Given the description of an element on the screen output the (x, y) to click on. 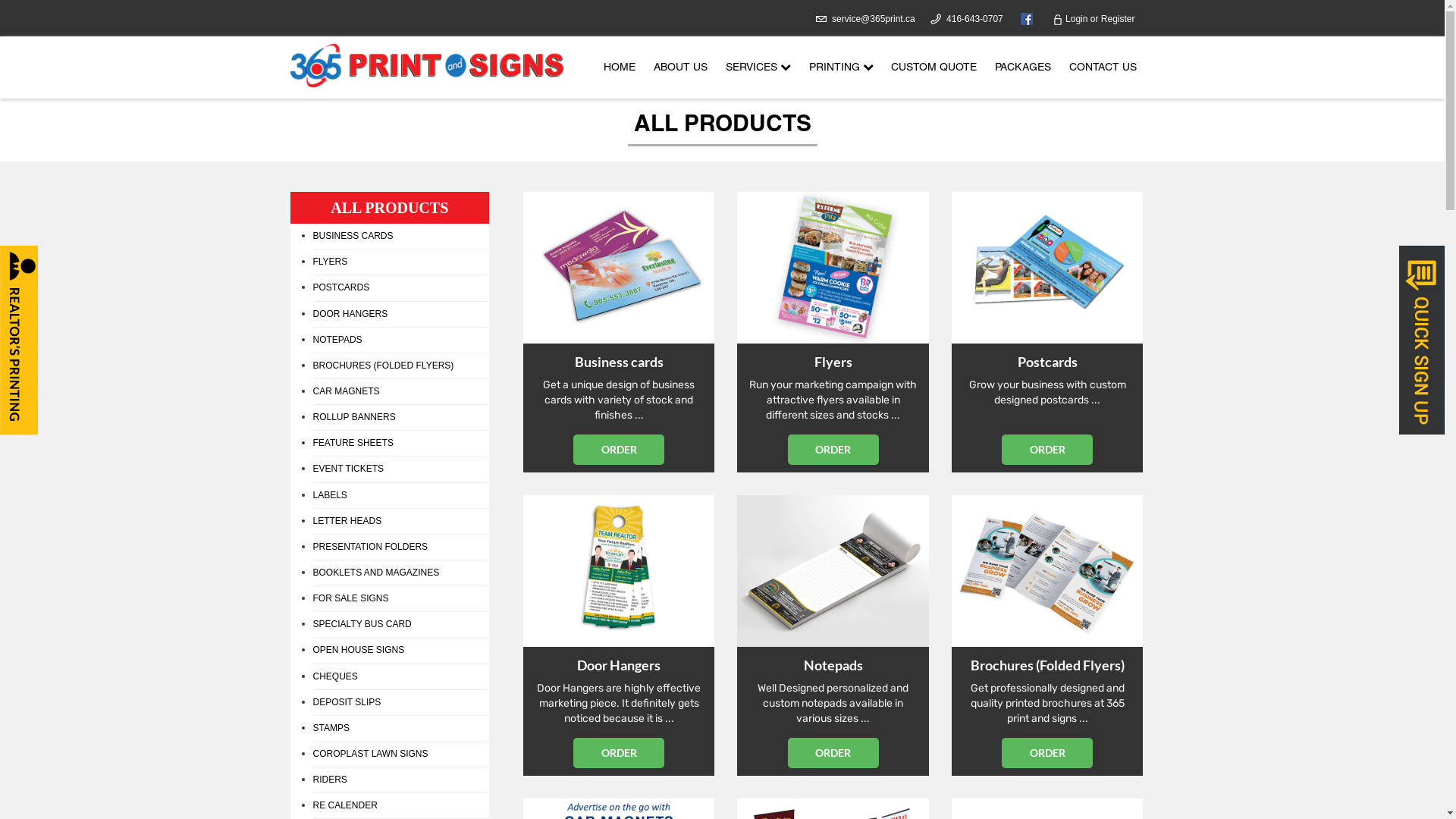
ORDER Element type: text (1046, 449)
BOOKLETS AND MAGAZINES Element type: text (400, 573)
FEATURE SHEETS Element type: text (400, 443)
service@365print.ca Element type: text (873, 18)
Flyers Element type: hover (832, 267)
Door Hangers Element type: hover (618, 570)
CONTACT US Element type: text (1102, 67)
RIDERS Element type: text (400, 780)
SERVICES Element type: text (757, 67)
PRINTING Element type: text (840, 67)
DEPOSIT SLIPS Element type: text (400, 702)
PRESENTATION FOLDERS Element type: text (400, 547)
COROPLAST LAWN SIGNS Element type: text (400, 754)
CAR MAGNETS Element type: text (400, 391)
LETTER HEADS Element type: text (400, 521)
CUSTOM QUOTE Element type: text (933, 67)
CHEQUES Element type: text (400, 677)
ORDER Element type: text (832, 752)
FOR SALE SIGNS Element type: text (400, 598)
HOME Element type: text (619, 67)
FLYERS Element type: text (400, 262)
STAMPS Element type: text (400, 728)
ORDER Element type: text (832, 449)
SPECIALTY BUS CARD Element type: text (400, 624)
Postcards Element type: hover (1046, 267)
Notepads Element type: hover (832, 570)
Login or Register Element type: text (1093, 18)
Facebook Element type: hover (1022, 18)
ABOUT US Element type: text (680, 67)
BROCHURES (FOLDED FLYERS) Element type: text (400, 366)
DOOR HANGERS Element type: text (400, 314)
ORDER Element type: text (618, 752)
PACKAGES Element type: text (1022, 67)
ORDER Element type: text (1046, 752)
EVENT TICKETS Element type: text (400, 469)
Business cards Element type: hover (618, 267)
BUSINESS CARDS Element type: text (400, 236)
Brochures (Folded Flyers) Element type: hover (1046, 570)
NOTEPADS Element type: text (400, 340)
OPEN HOUSE SIGNS Element type: text (400, 650)
LABELS Element type: text (400, 495)
416-643-0707 Element type: text (974, 18)
ROLLUP BANNERS Element type: text (400, 417)
POSTCARDS Element type: text (400, 288)
ORDER Element type: text (618, 449)
